Given the description of an element on the screen output the (x, y) to click on. 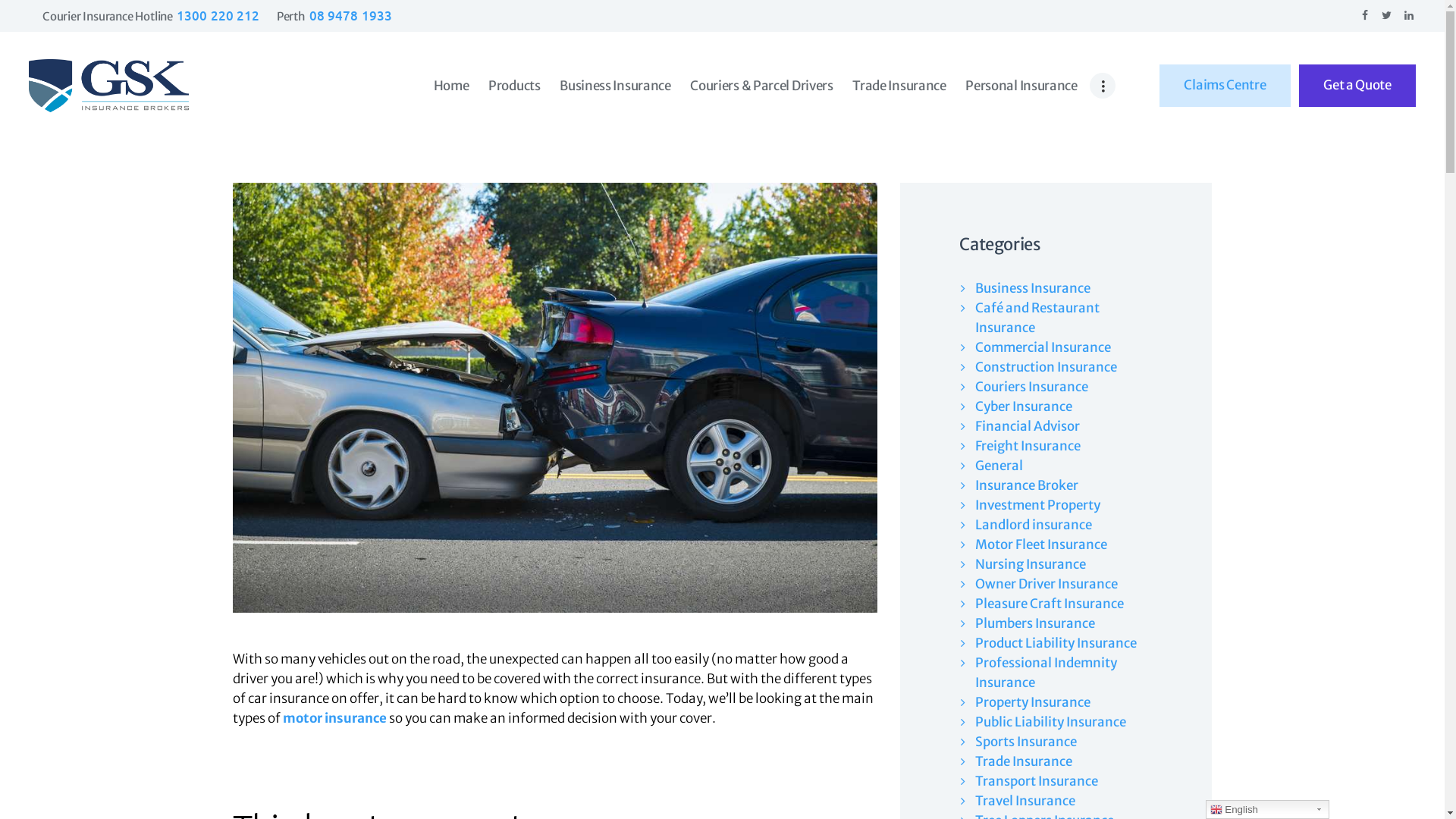
motor insurance Element type: text (334, 717)
Personal Insurance Element type: text (1020, 85)
Insurance Broker Element type: text (1026, 484)
Commercial Insurance Element type: text (1042, 346)
Products Element type: text (513, 85)
Owner Driver Insurance Element type: text (1046, 583)
Couriers Insurance Element type: text (1031, 386)
Cyber Insurance Element type: text (1023, 406)
Courier Insurance Hotline1300 220 212 Element type: text (150, 16)
Motor Fleet Insurance Element type: text (1041, 544)
Pleasure Craft Insurance Element type: text (1049, 603)
Professional Indemnity Insurance Element type: text (1046, 672)
Get a Quote Element type: text (1357, 85)
Business Insurance Element type: text (614, 85)
Freight Insurance Element type: text (1027, 445)
Financial Advisor Element type: text (1027, 425)
Home Element type: text (450, 85)
Nursing Insurance Element type: text (1030, 563)
Claims Centre Element type: text (1224, 85)
Property Insurance Element type: text (1032, 701)
Business Insurance Element type: text (1032, 287)
Transport Insurance Element type: text (1036, 780)
Product Liability Insurance Element type: text (1055, 642)
Public Liability Insurance Element type: text (1050, 721)
Perth08 9478 1933 Element type: text (334, 16)
Plumbers Insurance Element type: text (1035, 623)
Trade Insurance Element type: text (1023, 761)
Sports Insurance Element type: text (1025, 741)
Construction Insurance Element type: text (1046, 366)
Couriers & Parcel Drivers Element type: text (761, 85)
Landlord insurance Element type: text (1033, 524)
Investment Property Element type: text (1037, 504)
General Element type: text (998, 465)
Trade Insurance Element type: text (898, 85)
Travel Insurance Element type: text (1025, 800)
